Given the description of an element on the screen output the (x, y) to click on. 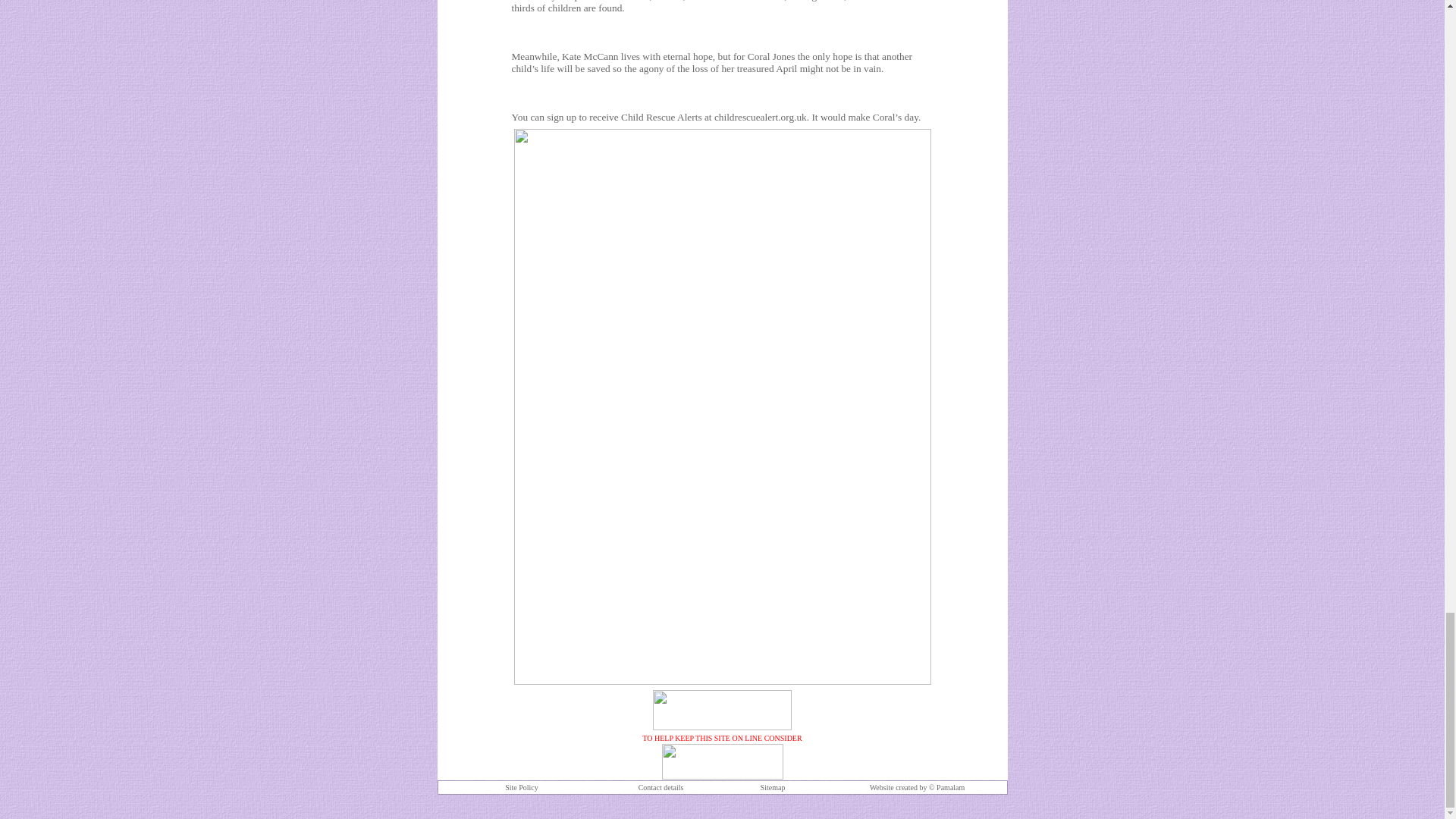
itemap (774, 785)
Contact details (661, 786)
Site Policy (521, 786)
Pamalam (949, 785)
